Given the description of an element on the screen output the (x, y) to click on. 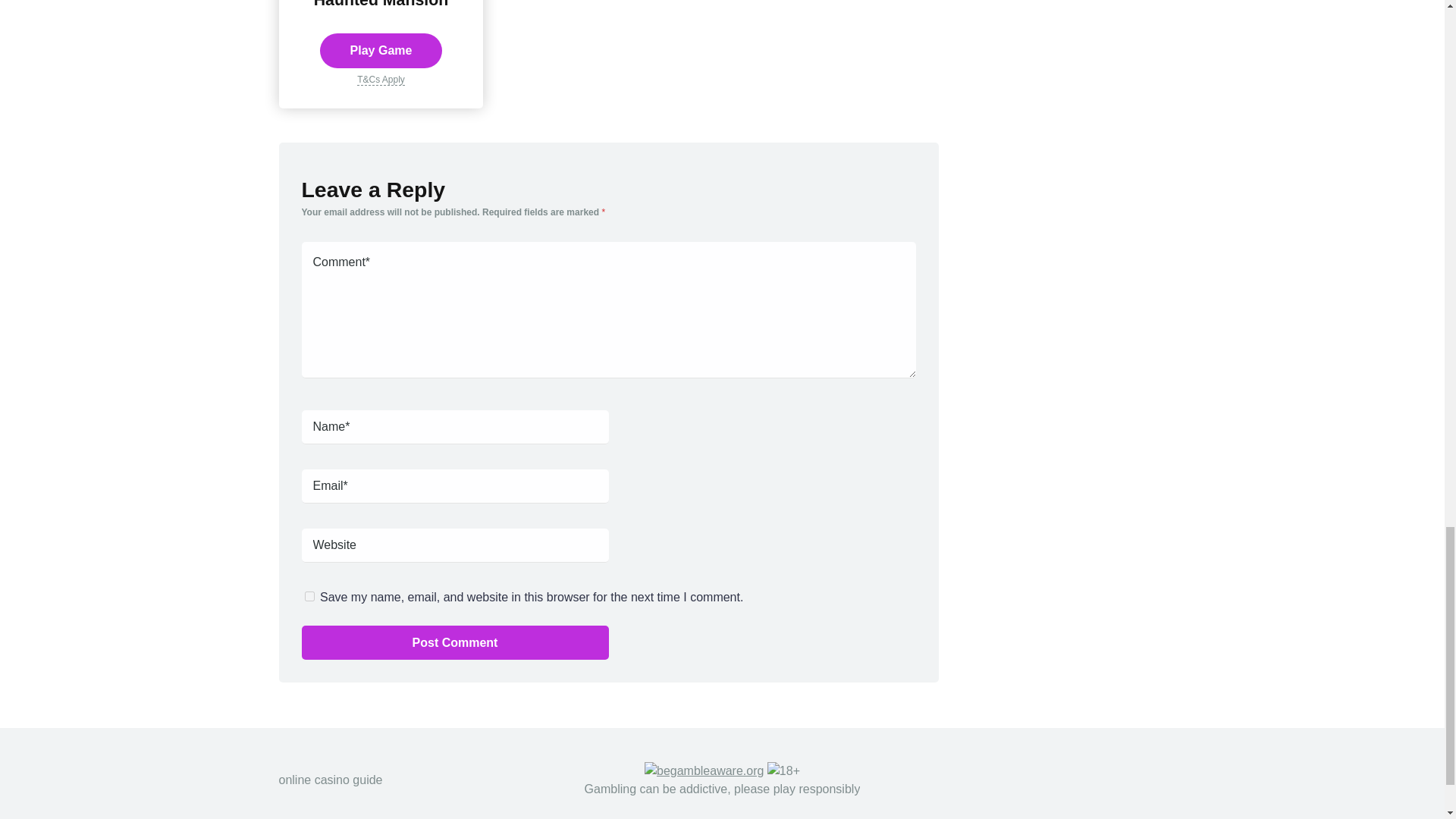
Post Comment (454, 642)
yes (309, 596)
Haunted Mansion (381, 4)
Play Game (381, 50)
